Given the description of an element on the screen output the (x, y) to click on. 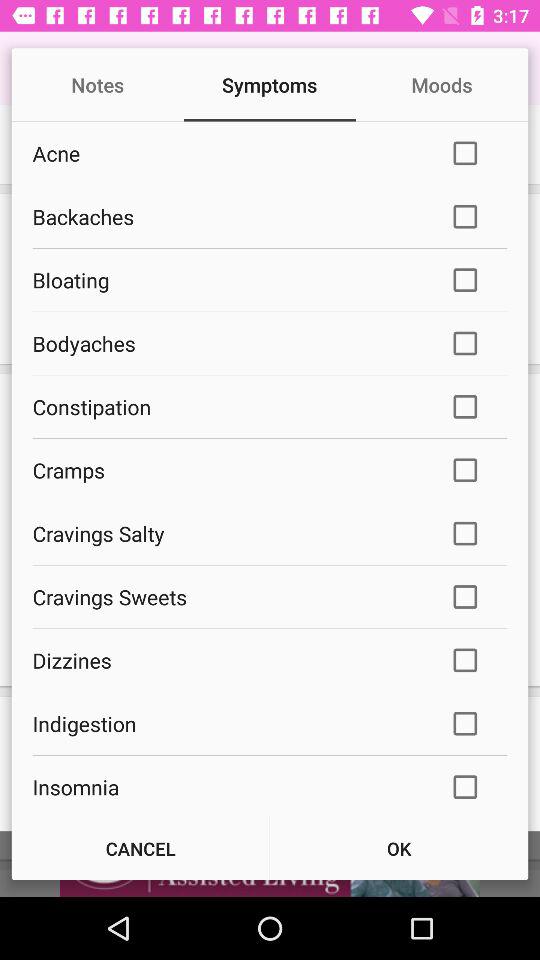
turn off icon above cramps (227, 406)
